Given the description of an element on the screen output the (x, y) to click on. 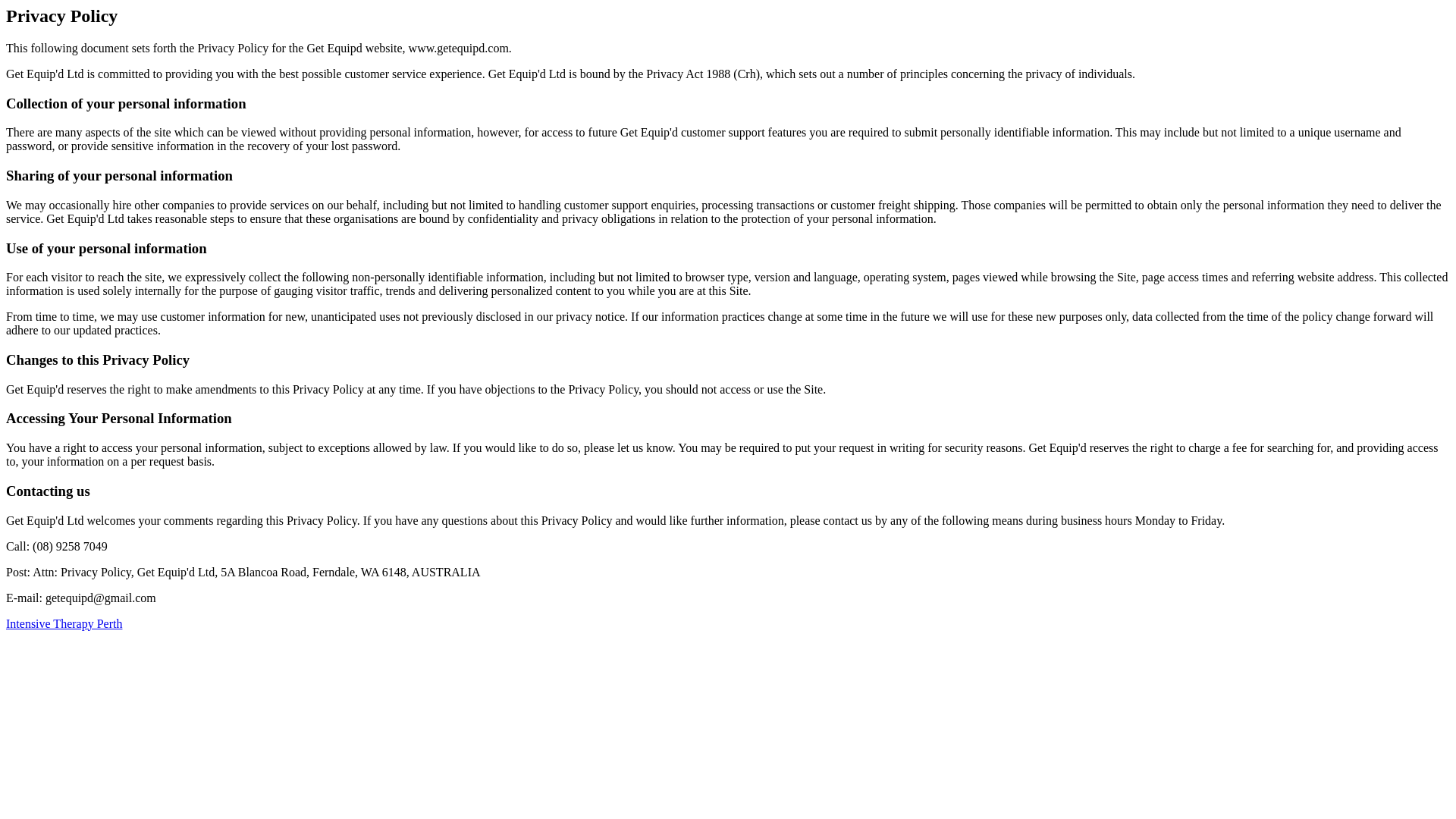
Intensive Therapy Perth Element type: text (64, 623)
